Given the description of an element on the screen output the (x, y) to click on. 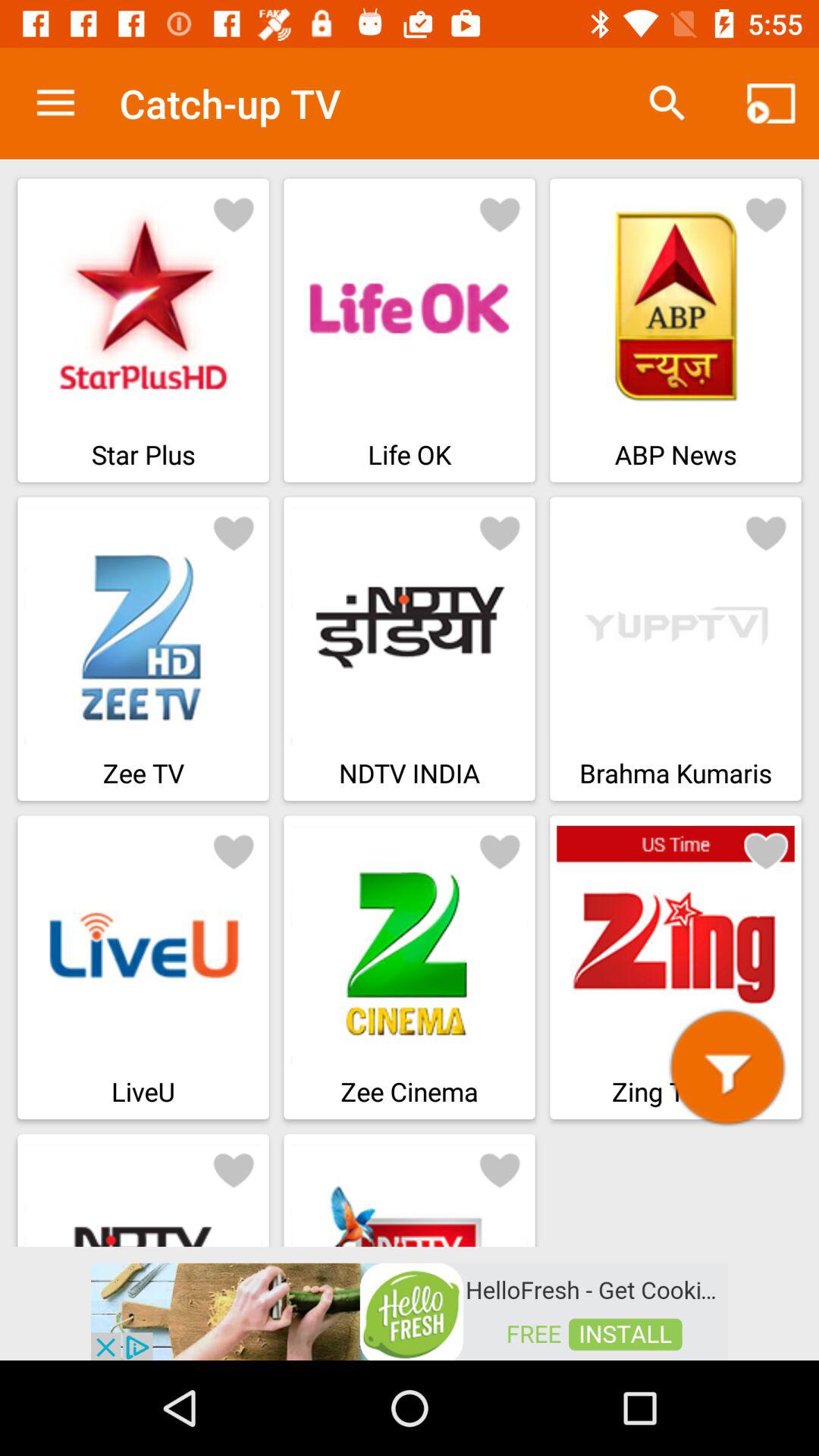
heart symbol (233, 213)
